Given the description of an element on the screen output the (x, y) to click on. 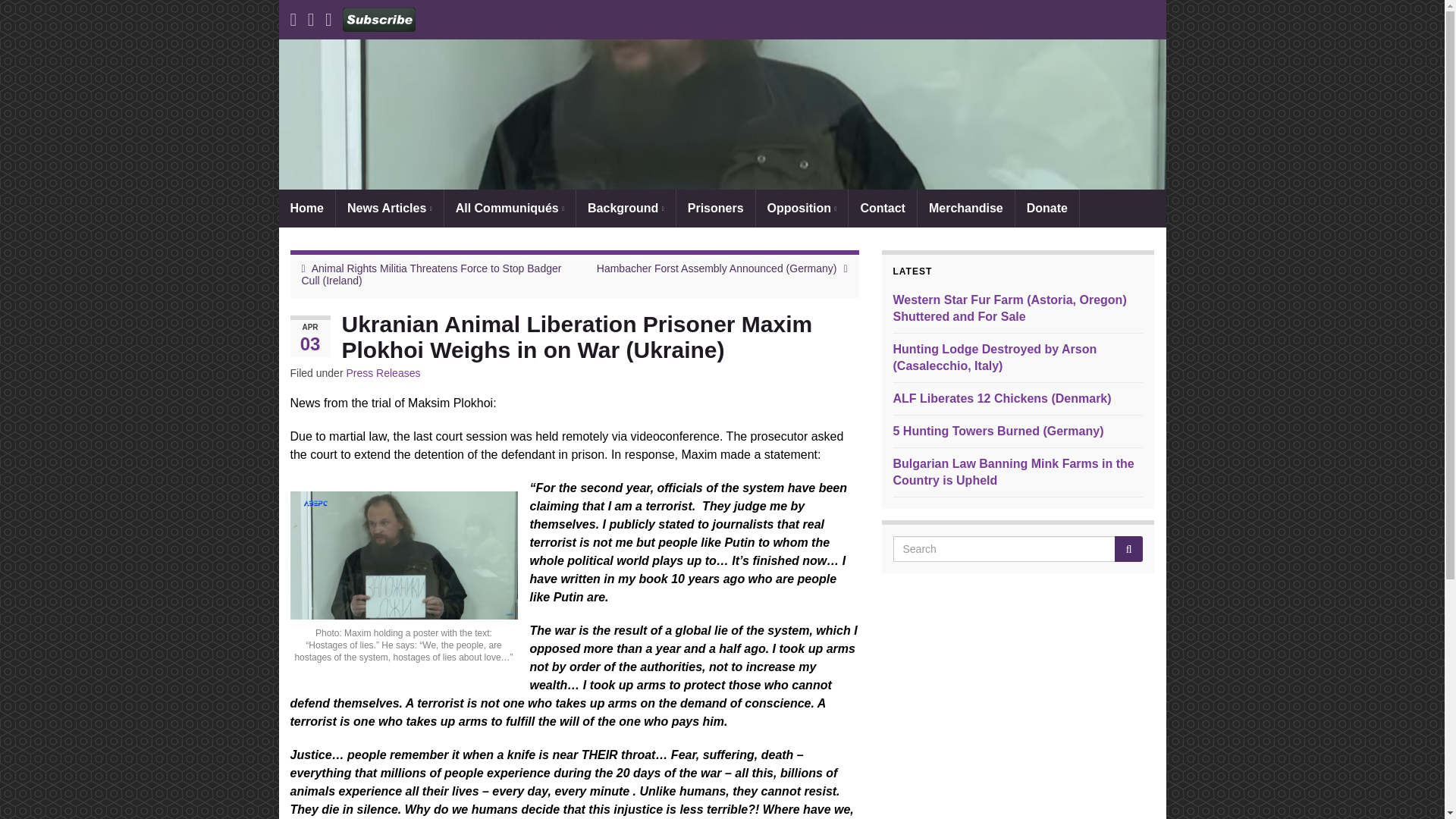
Contact (882, 208)
Home (306, 208)
Contact the Press Office: (882, 208)
Donate (1046, 208)
Merchandise (965, 208)
Opposition (801, 208)
Background (625, 208)
Bulgarian Law Banning Mink Farms in the Country is Upheld (1013, 471)
Go back to the front page (722, 114)
Prisoners (716, 208)
Visit 's Custom page (378, 17)
News Articles (390, 208)
Press Releases (383, 372)
